Given the description of an element on the screen output the (x, y) to click on. 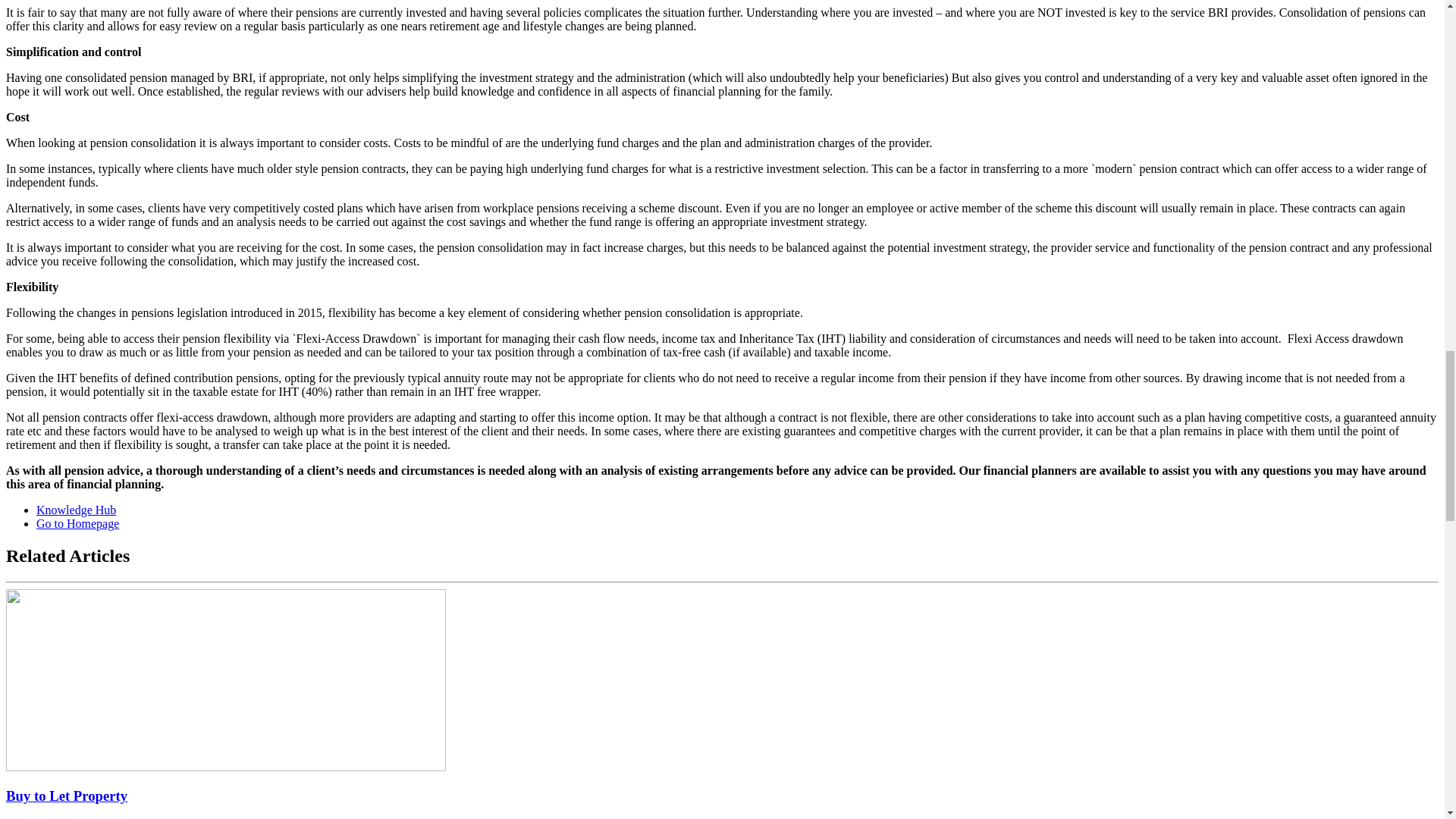
Buy to Let Property (66, 795)
Go to Homepage (77, 522)
Buy To Let Feature (225, 679)
Knowledge Hub (76, 509)
